Given the description of an element on the screen output the (x, y) to click on. 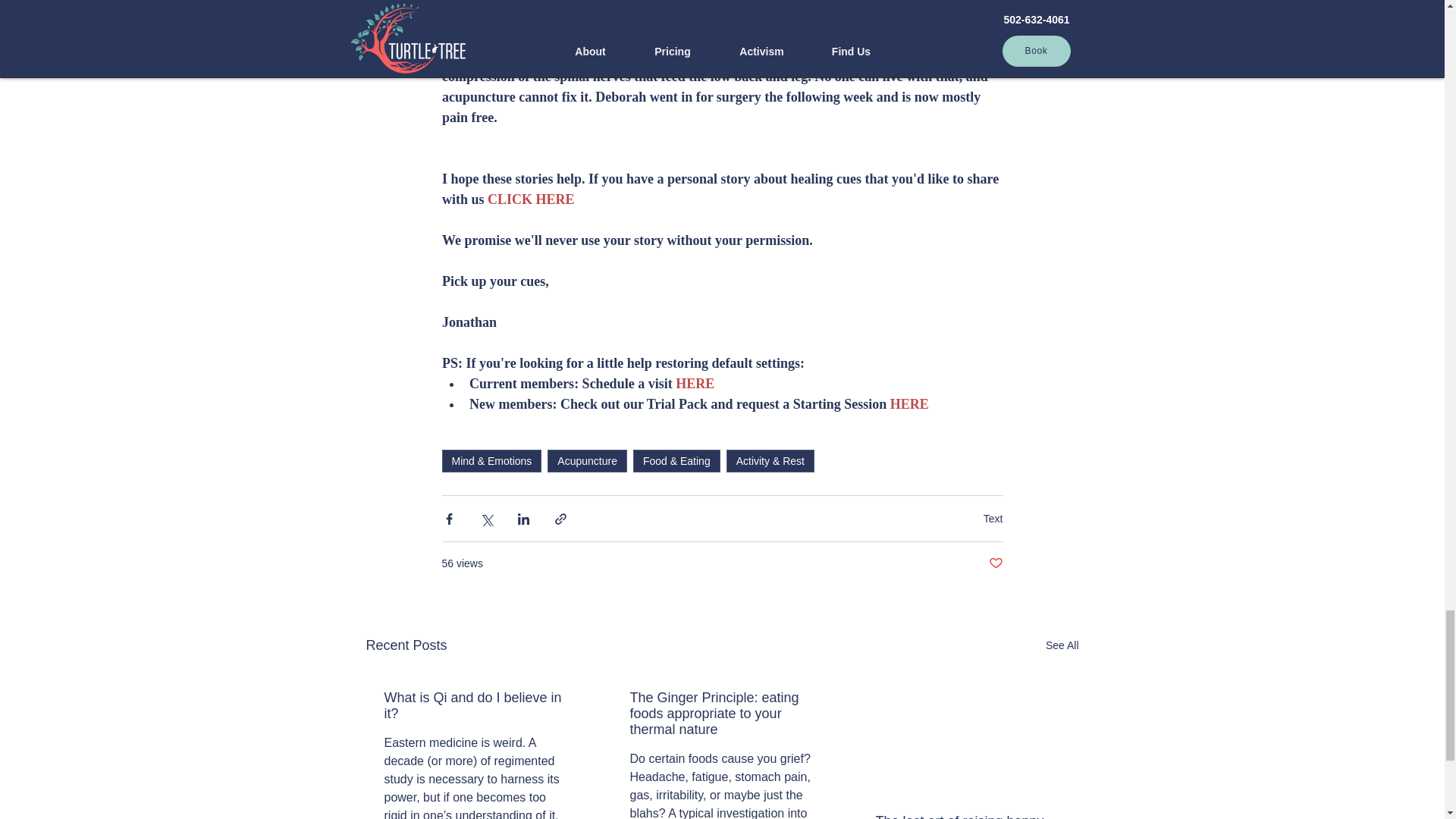
Post not marked as liked (995, 563)
HERE (694, 383)
See All (1061, 645)
HERE (908, 403)
CLICK HERE (531, 199)
The lost art of raising happy, helpful children (966, 816)
What is Qi and do I believe in it? (475, 705)
Text (993, 518)
Acupuncture (587, 460)
